Given the description of an element on the screen output the (x, y) to click on. 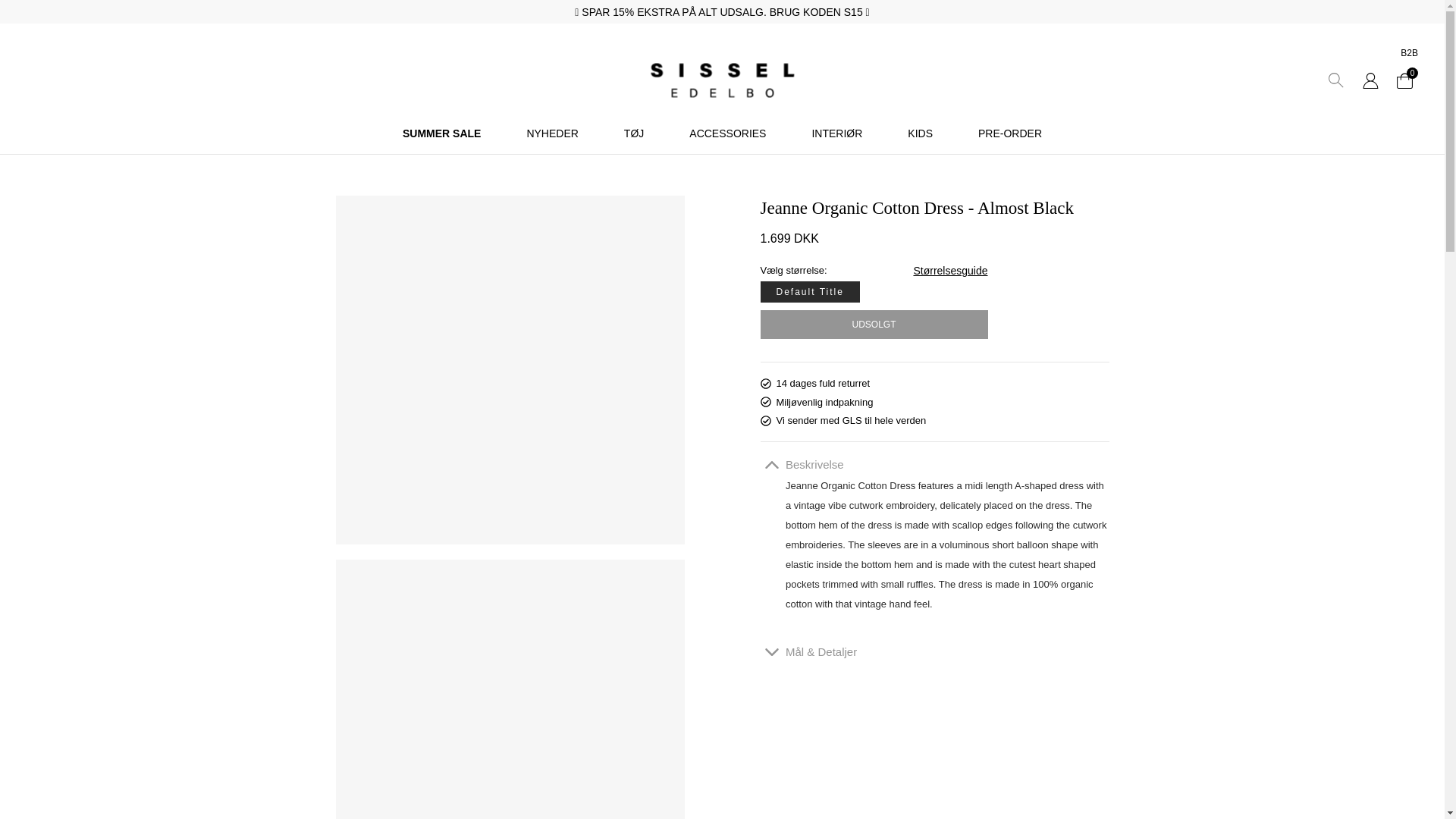
KIDS (920, 133)
0 (1403, 80)
PRE-ORDER (1010, 133)
SUMMER SALE (441, 133)
B2B (1409, 52)
NYHEDER (551, 133)
ACCESSORIES (726, 133)
